Given the description of an element on the screen output the (x, y) to click on. 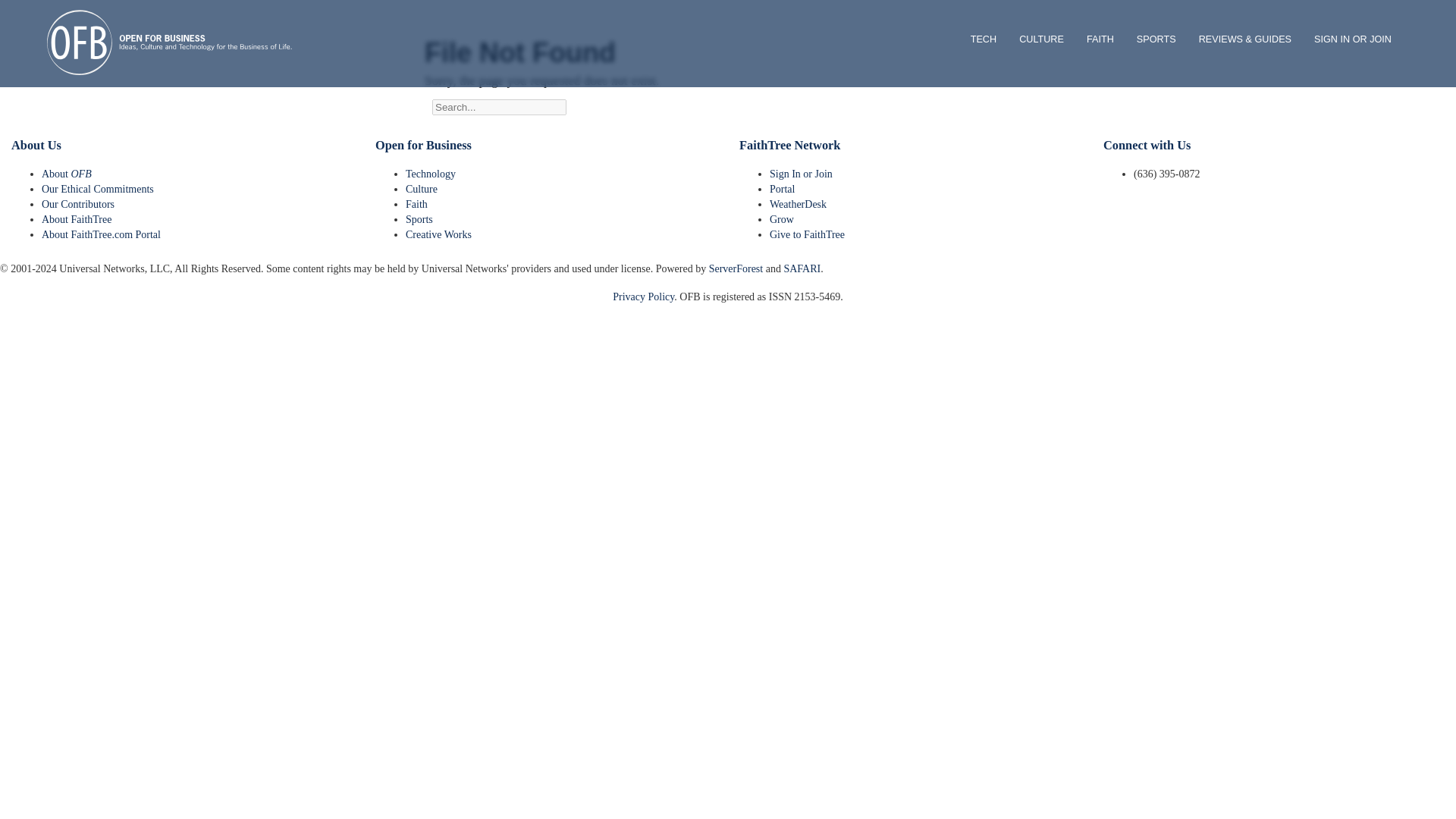
WeatherDesk (798, 204)
Portal (782, 188)
About Us (36, 145)
Grow (781, 219)
Connect with Us (1147, 145)
SIGN IN OR JOIN (1353, 39)
Culture (422, 188)
About FaithTree (77, 219)
Faith (417, 204)
Privacy Policy (643, 296)
